Given the description of an element on the screen output the (x, y) to click on. 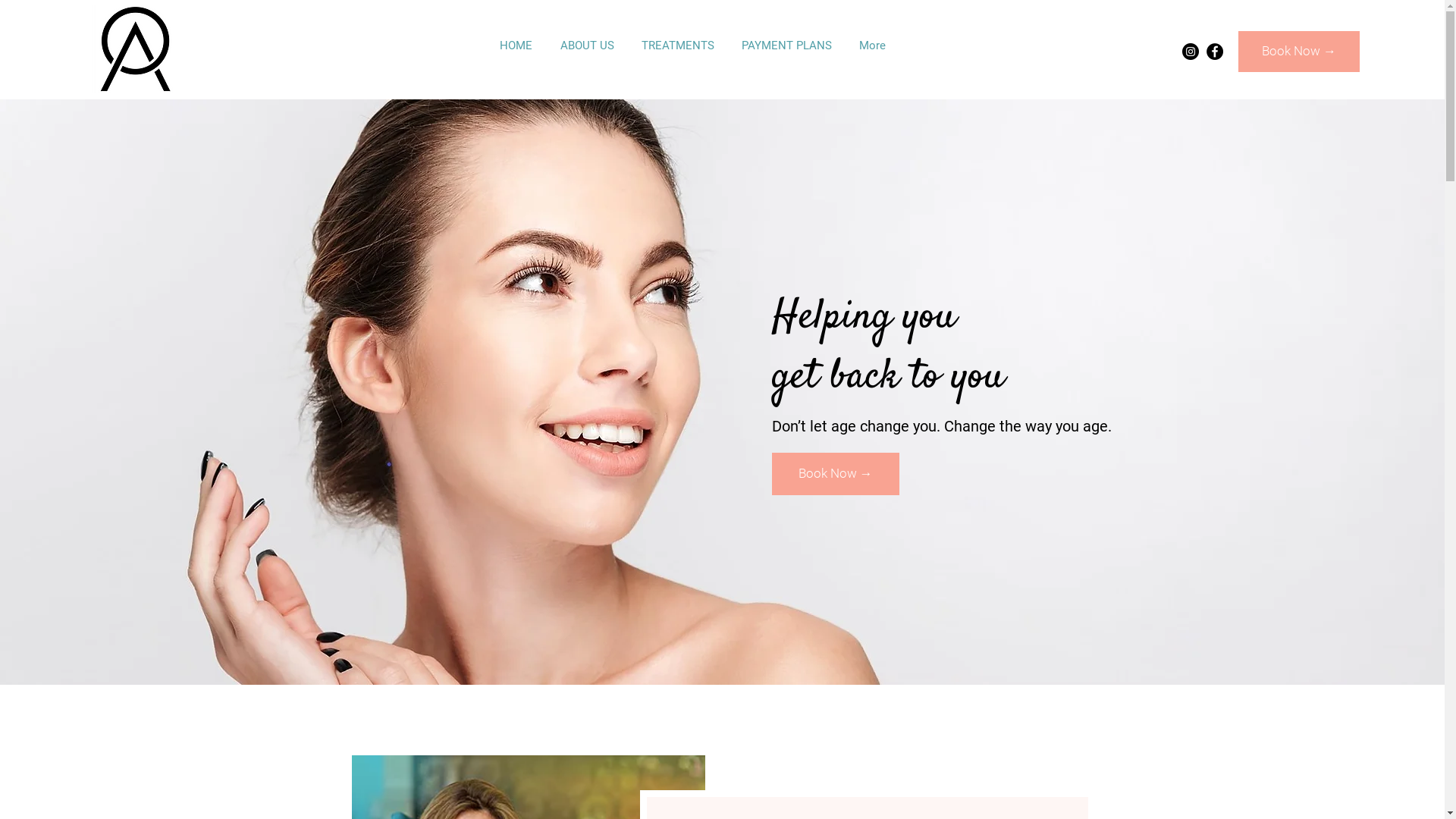
TREATMENTS Element type: text (677, 45)
PAYMENT PLANS Element type: text (786, 45)
ABOUT US Element type: text (586, 45)
HOME Element type: text (515, 45)
